Given the description of an element on the screen output the (x, y) to click on. 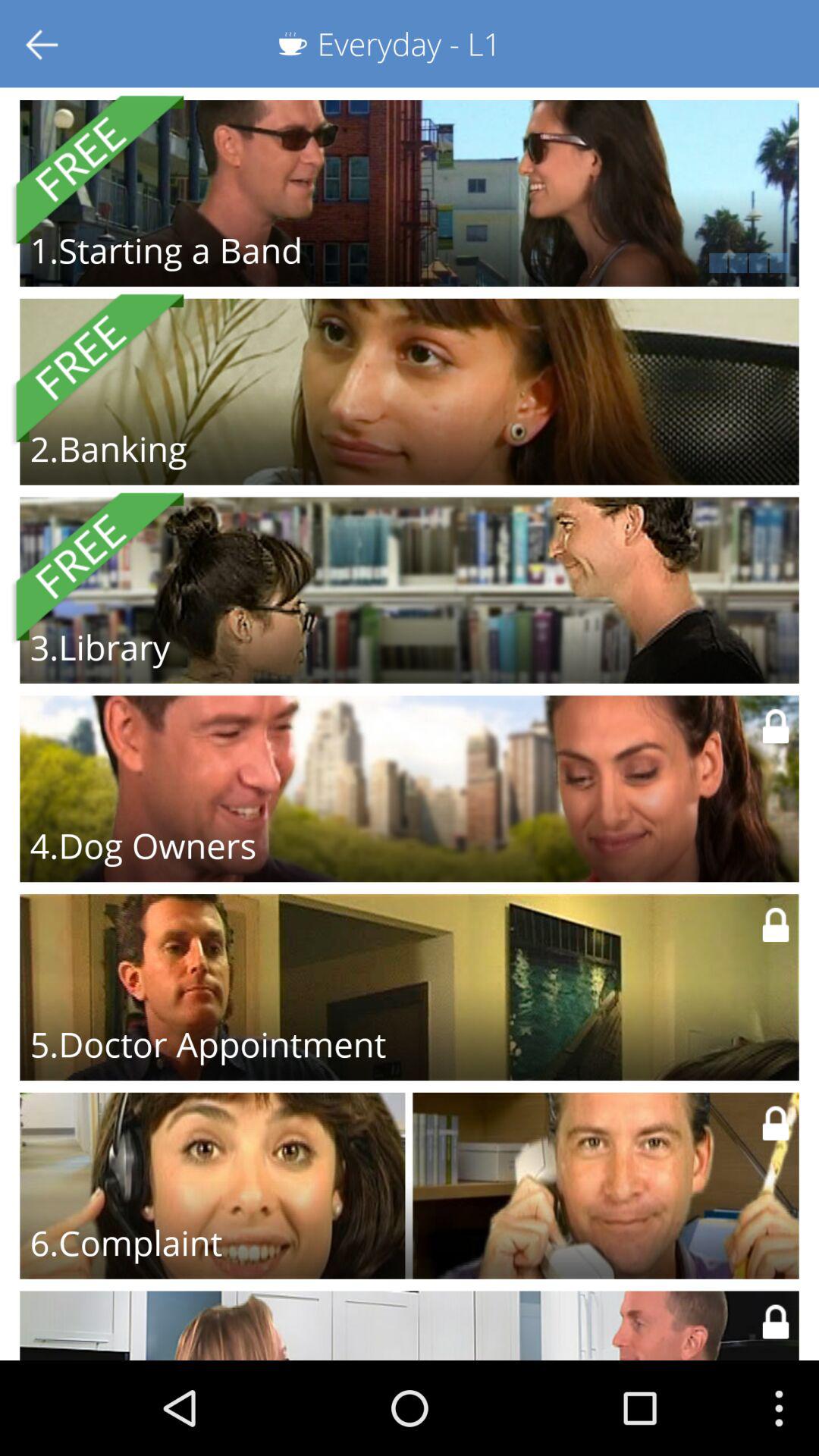
press the 4.dog owners item (143, 845)
